Given the description of an element on the screen output the (x, y) to click on. 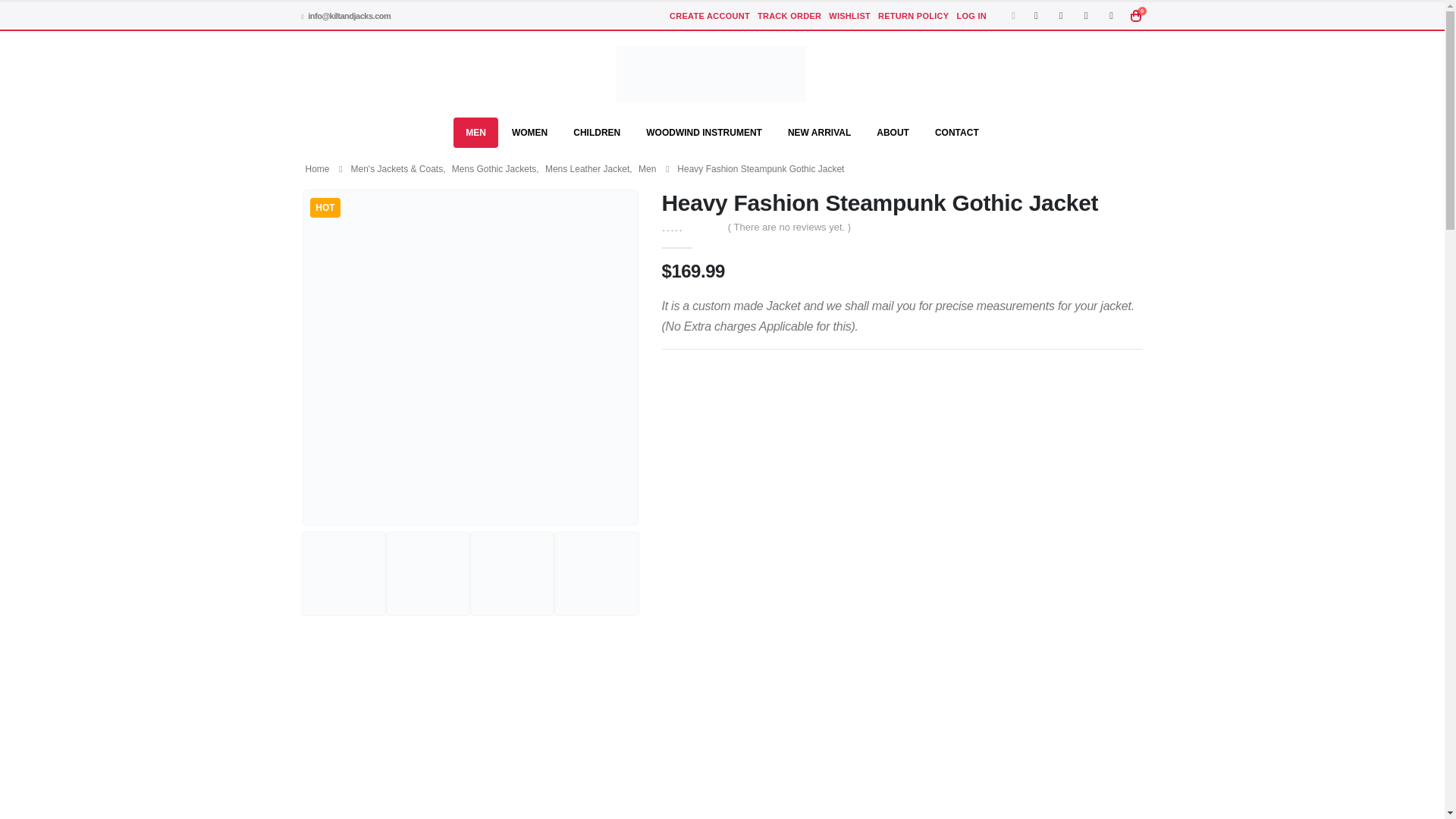
Twitter (1060, 15)
Heavy-Fashion-Steampunk-Gothic-Jacket-Back (427, 573)
Heavy-Fashion-Steampunk-Gothic-Jacket (469, 357)
Pinterest (1085, 15)
Instagram (1111, 15)
Go to Home Page (316, 168)
CREATE ACCOUNT (709, 15)
WISHLIST (850, 15)
Kilt and Jacks - Shop Kilts and Jackets Online (710, 73)
TRACK ORDER (789, 15)
